Given the description of an element on the screen output the (x, y) to click on. 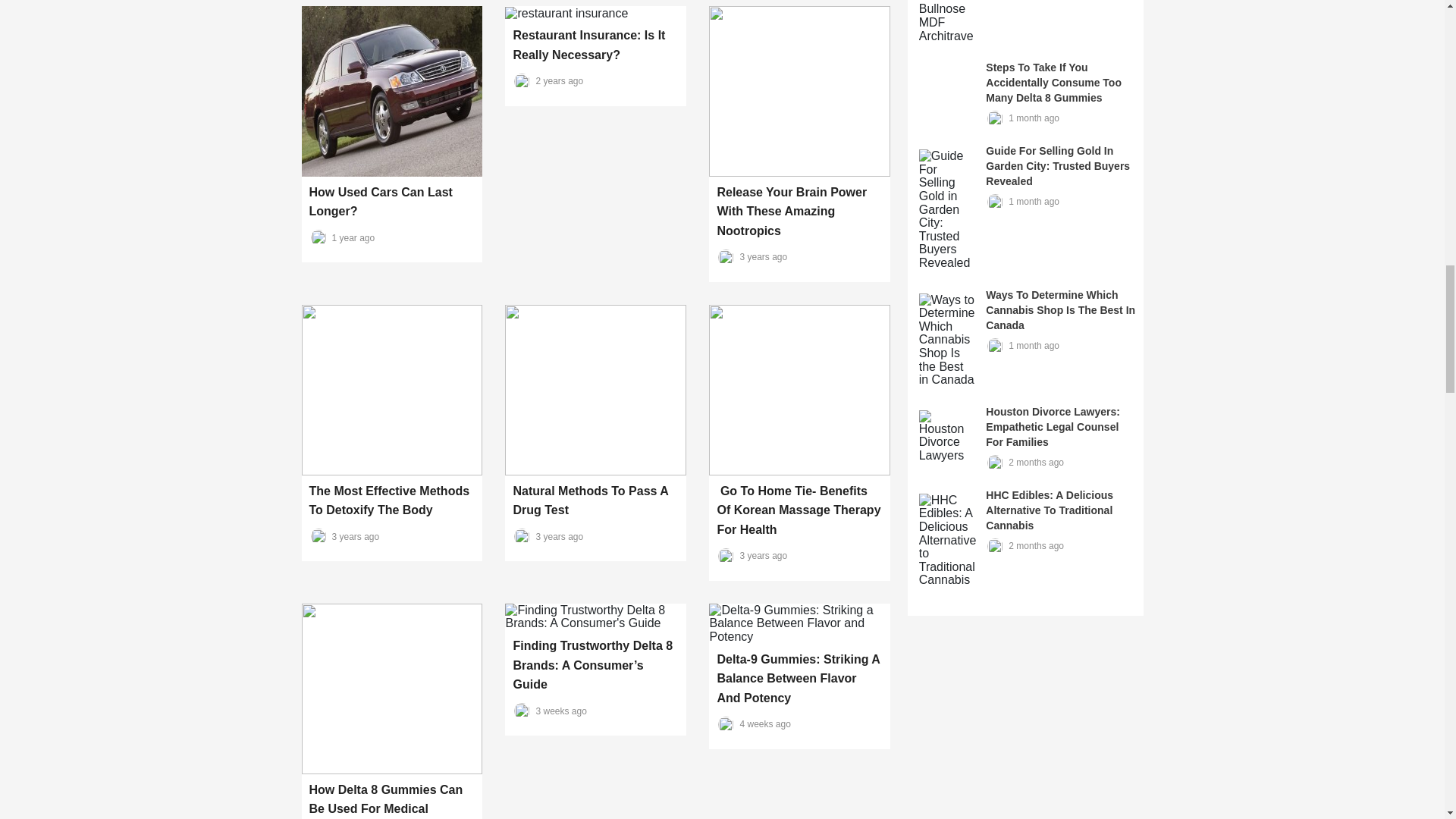
How Used Cars Can Last Longer? (380, 201)
Restaurant Insurance: Is It Really Necessary? (588, 44)
